Given the description of an element on the screen output the (x, y) to click on. 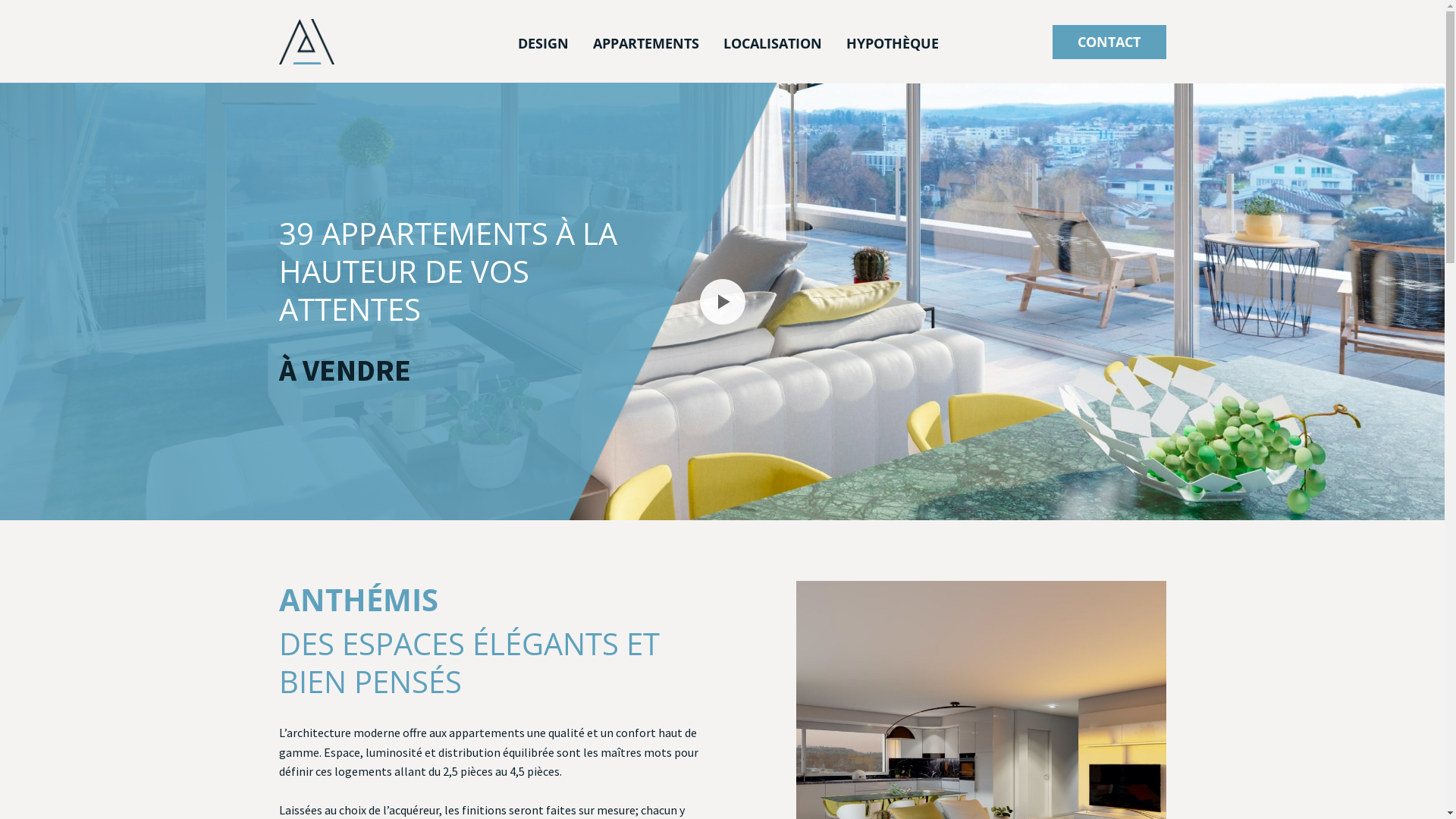
LOCALISATION Element type: text (772, 42)
APPARTEMENTS Element type: text (645, 42)
DESIGN Element type: text (542, 42)
CONTACT Element type: text (1109, 41)
Aller au contenu principal Element type: text (0, 0)
